Given the description of an element on the screen output the (x, y) to click on. 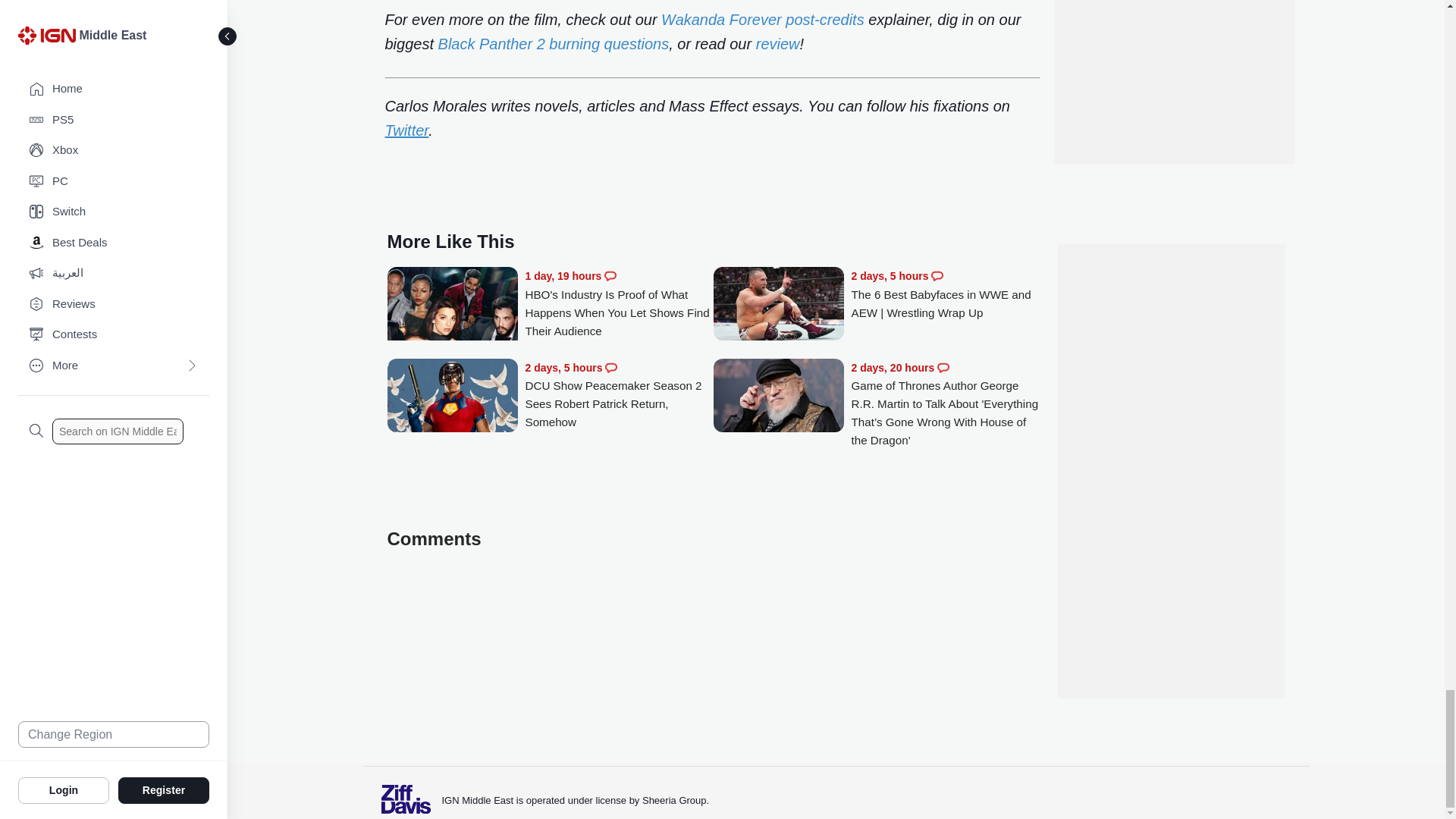
Comments (943, 367)
Comments (937, 275)
Comments (609, 275)
Comments (611, 367)
